Given the description of an element on the screen output the (x, y) to click on. 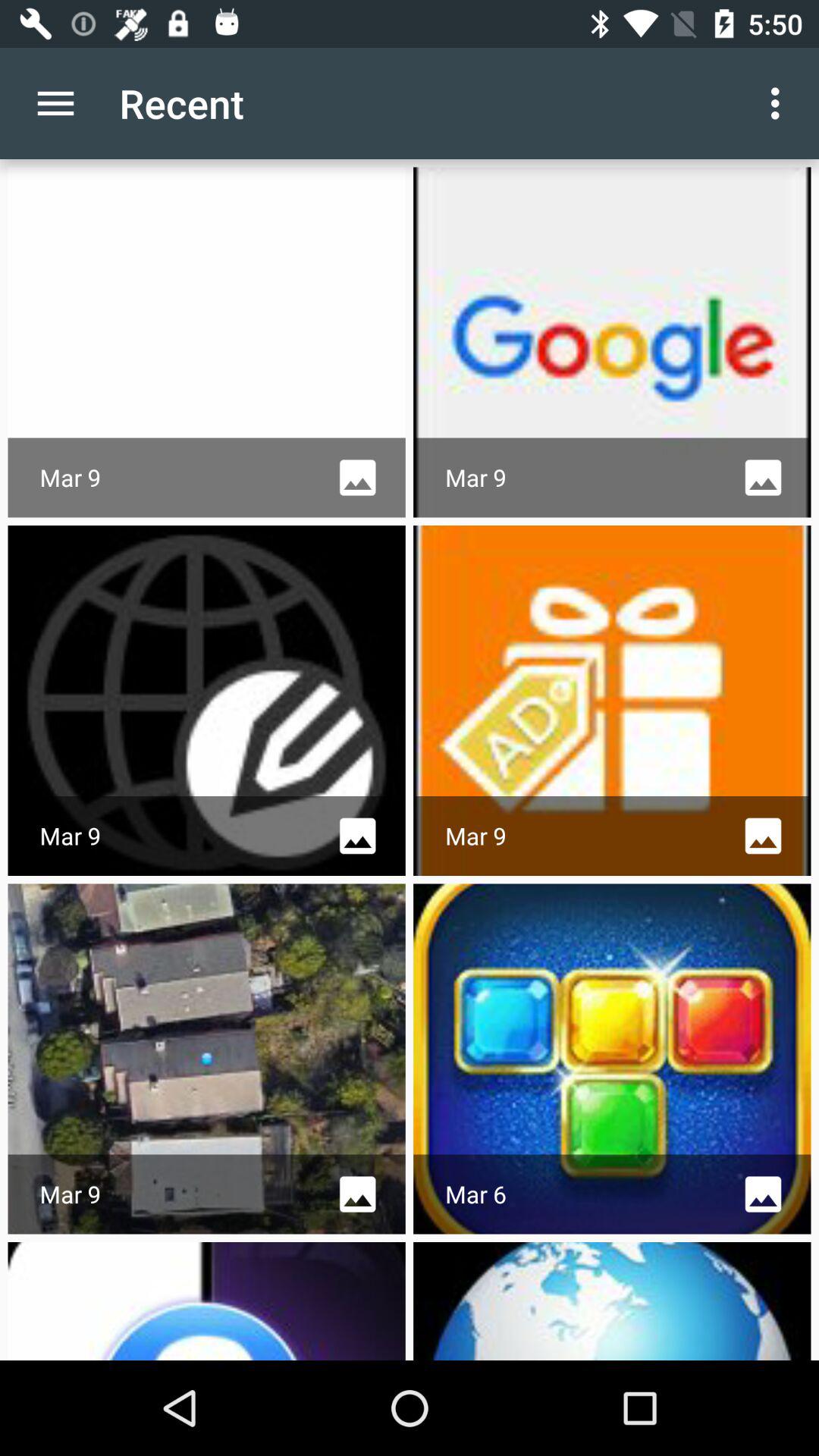
open item next to recent icon (779, 103)
